Given the description of an element on the screen output the (x, y) to click on. 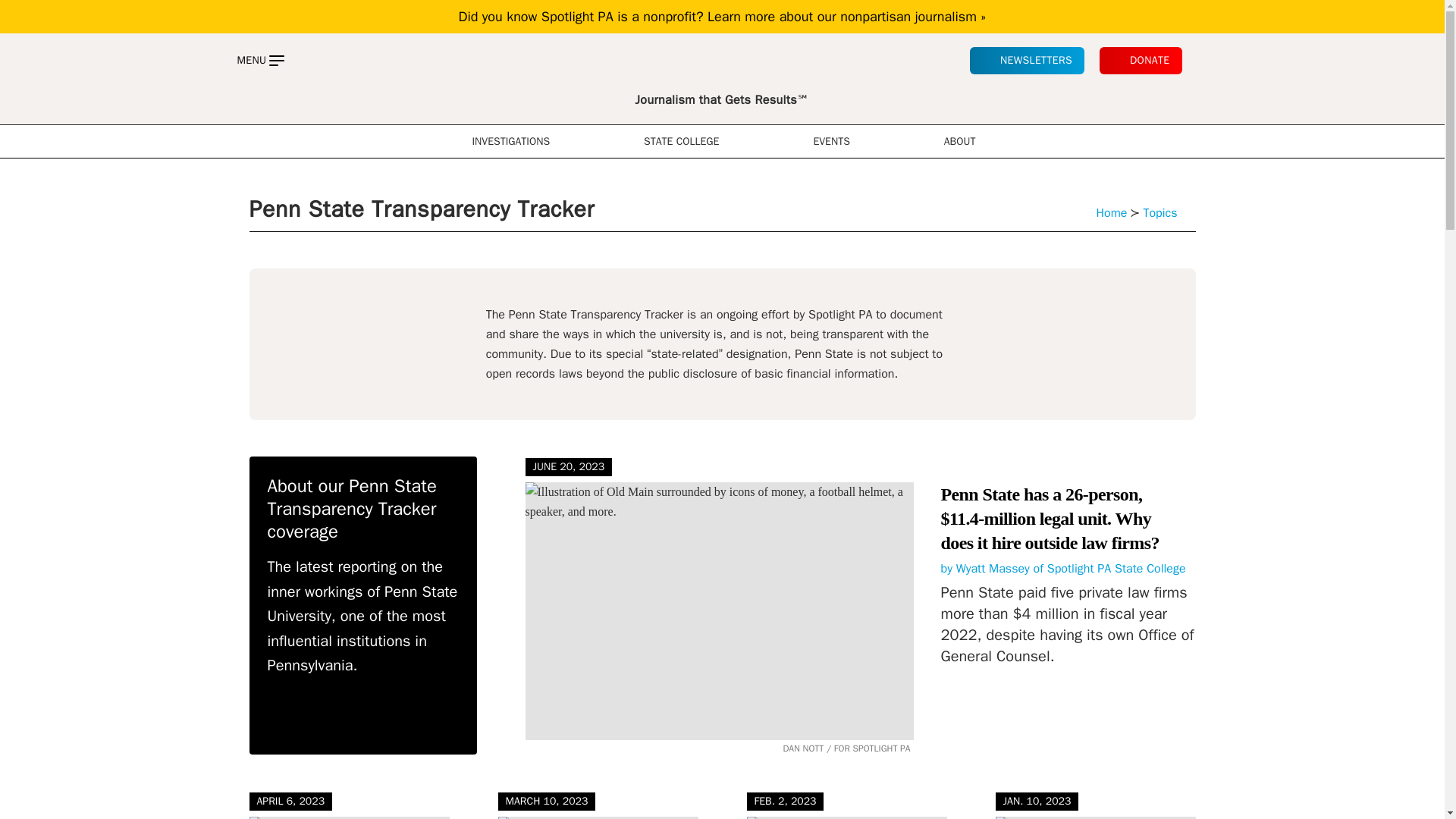
MENU (259, 60)
